Given the description of an element on the screen output the (x, y) to click on. 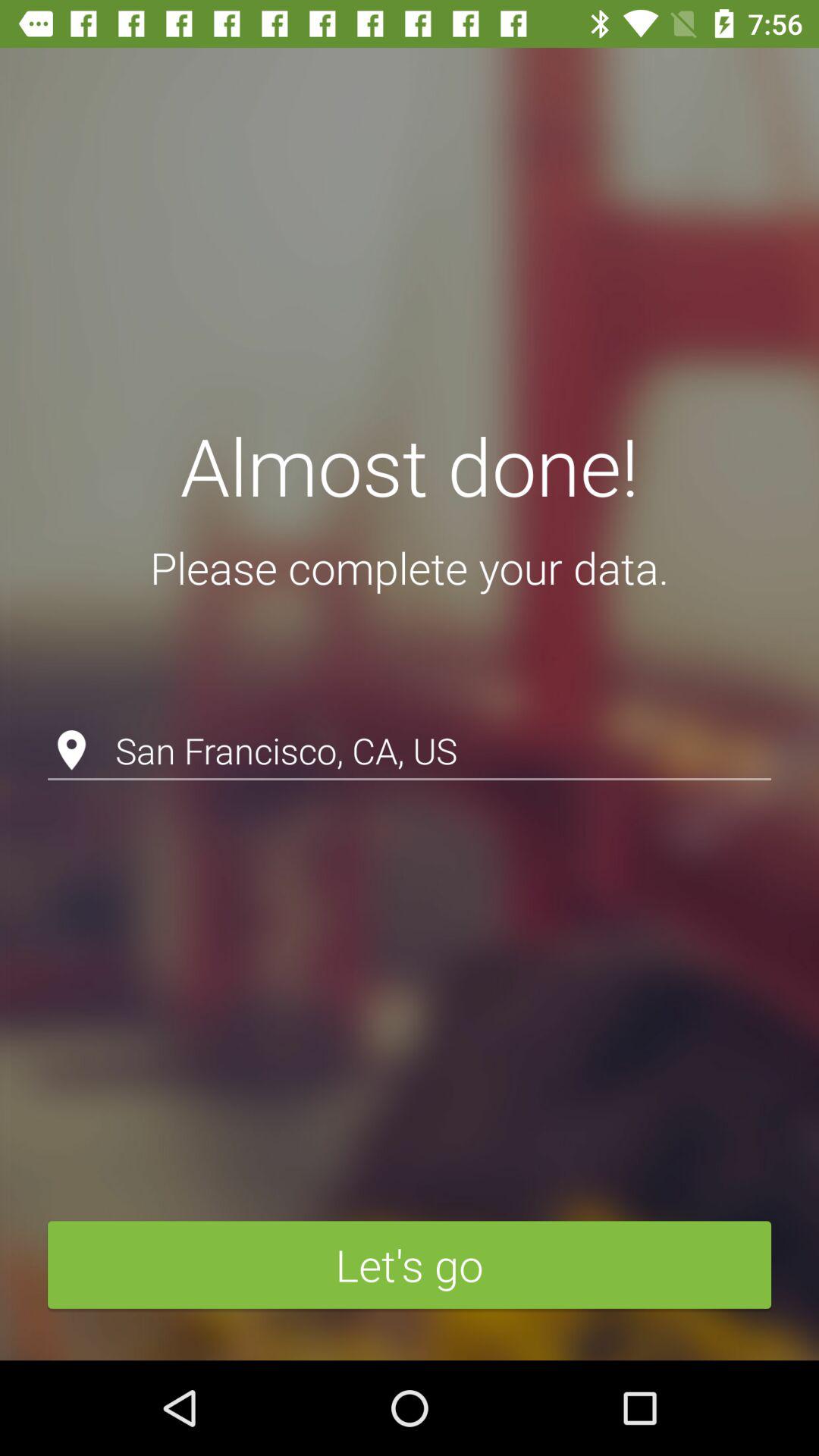
location (409, 711)
